Given the description of an element on the screen output the (x, y) to click on. 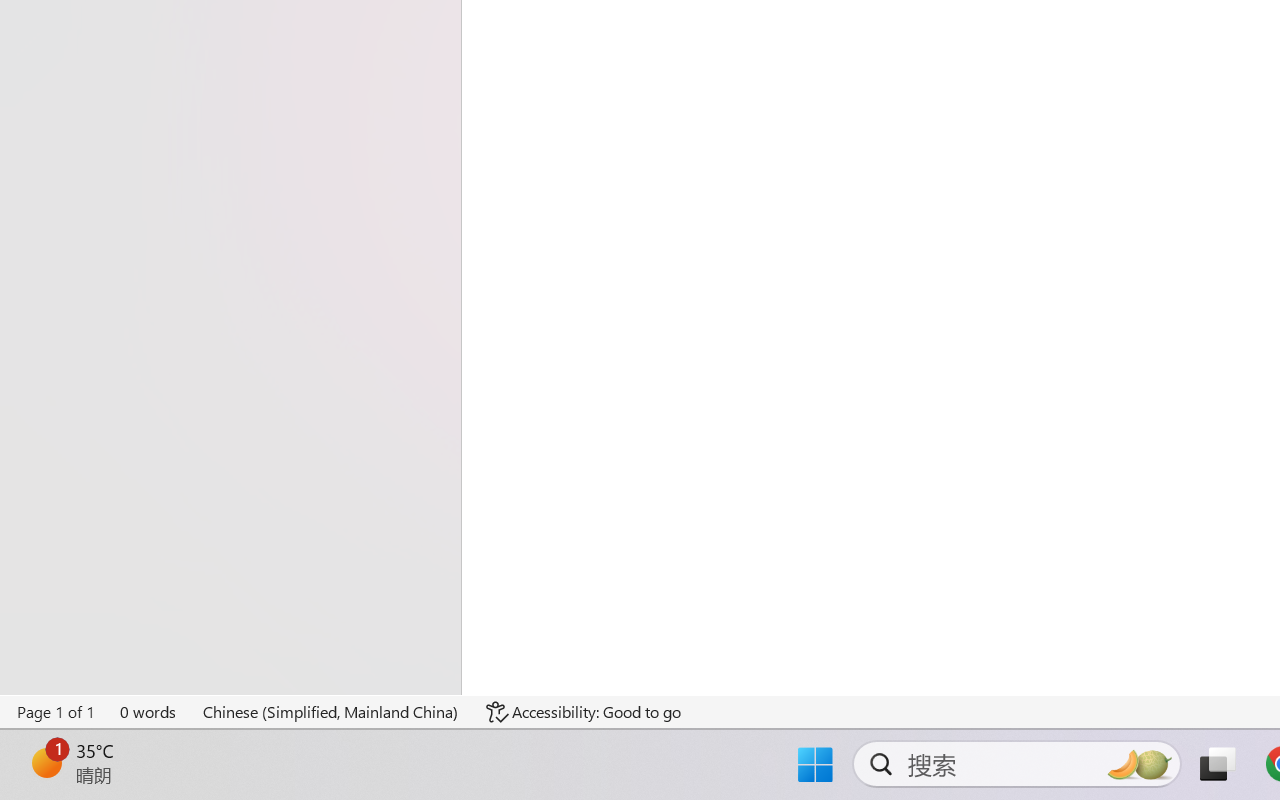
Language Chinese (Simplified, Mainland China) (331, 712)
